Given the description of an element on the screen output the (x, y) to click on. 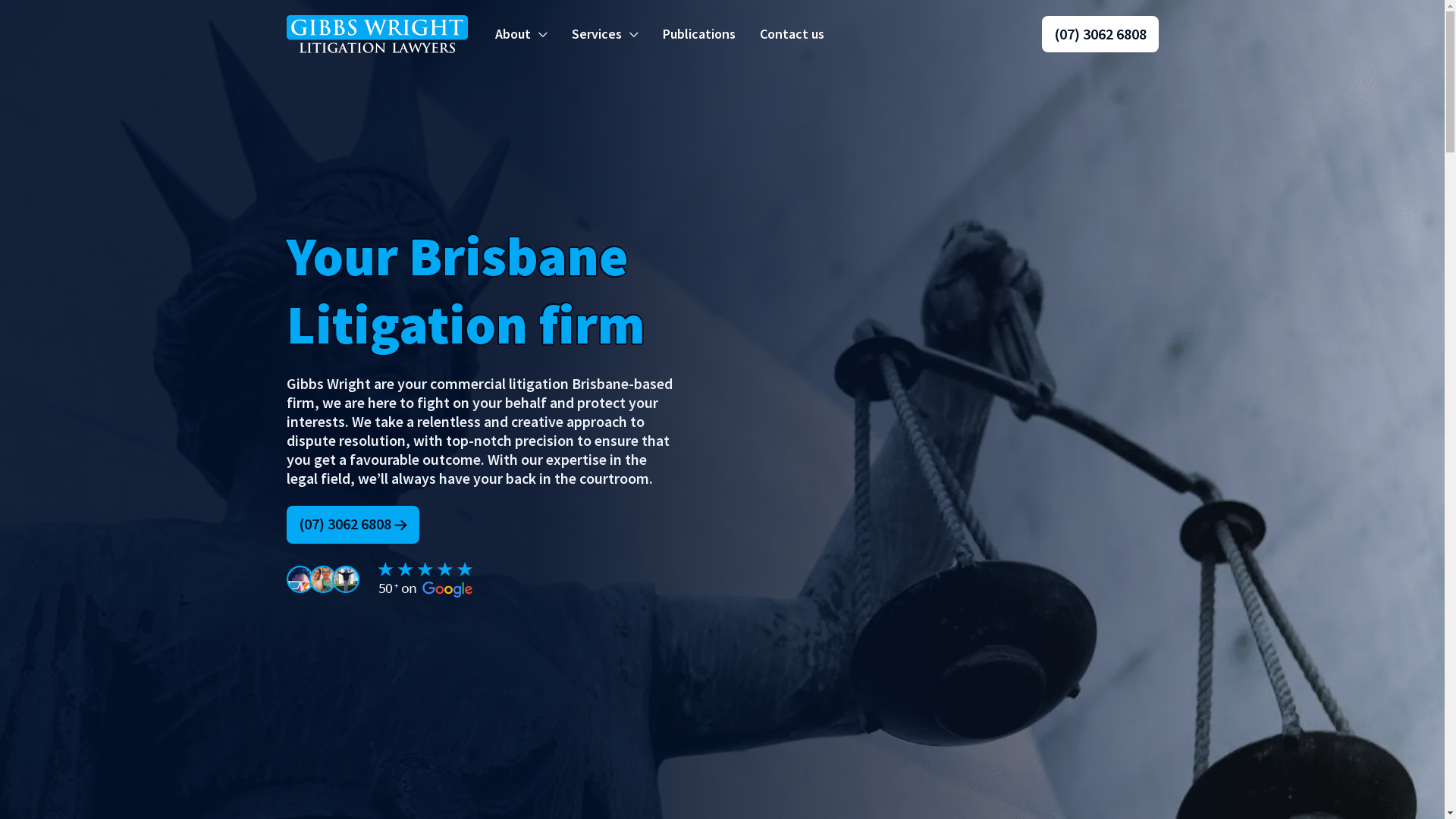
Services Element type: text (604, 33)
Contact us Element type: text (791, 33)
About Element type: text (520, 33)
(07) 3062 6808 Element type: text (1099, 33)
Publications Element type: text (698, 33)
(07) 3062 6808 Element type: text (352, 523)
